Given the description of an element on the screen output the (x, y) to click on. 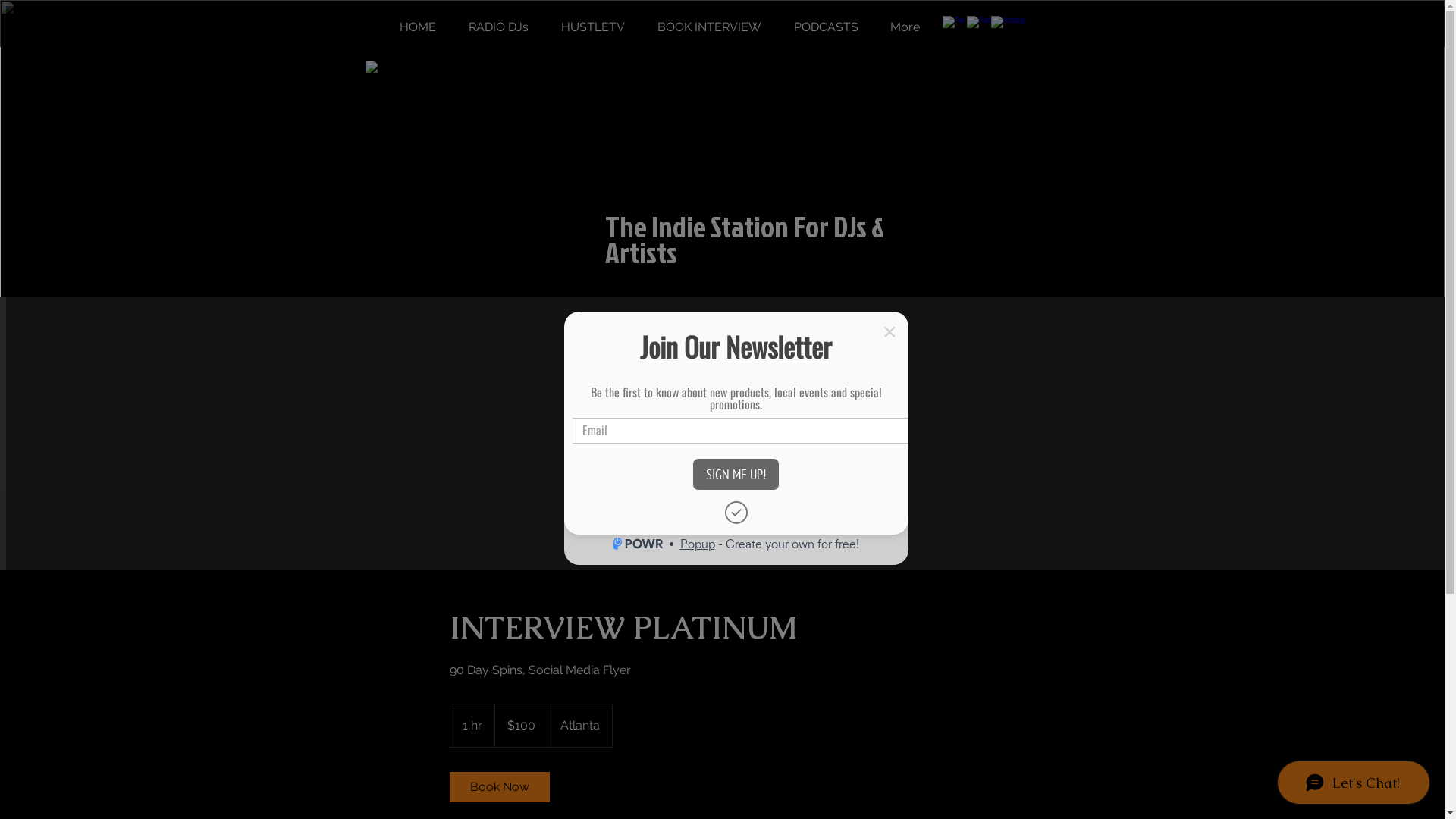
RADIO DJs Element type: text (497, 26)
Book Now Element type: text (498, 786)
BOOK INTERVIEW Element type: text (709, 26)
HUSTLETV Element type: text (592, 26)
PODCASTS Element type: text (826, 26)
HOME Element type: text (417, 26)
The Indie Station For DJs & Artists Element type: text (744, 239)
